Given the description of an element on the screen output the (x, y) to click on. 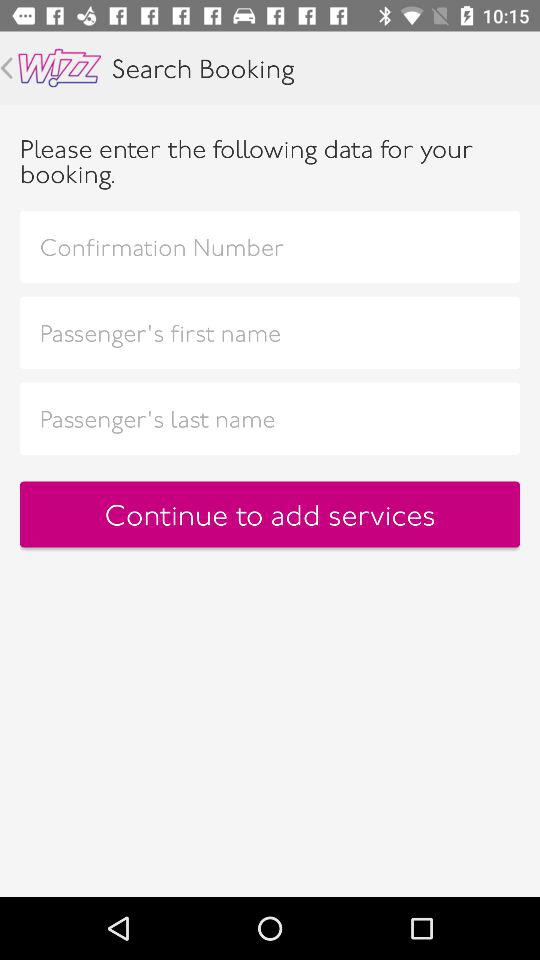
app name (59, 68)
